Given the description of an element on the screen output the (x, y) to click on. 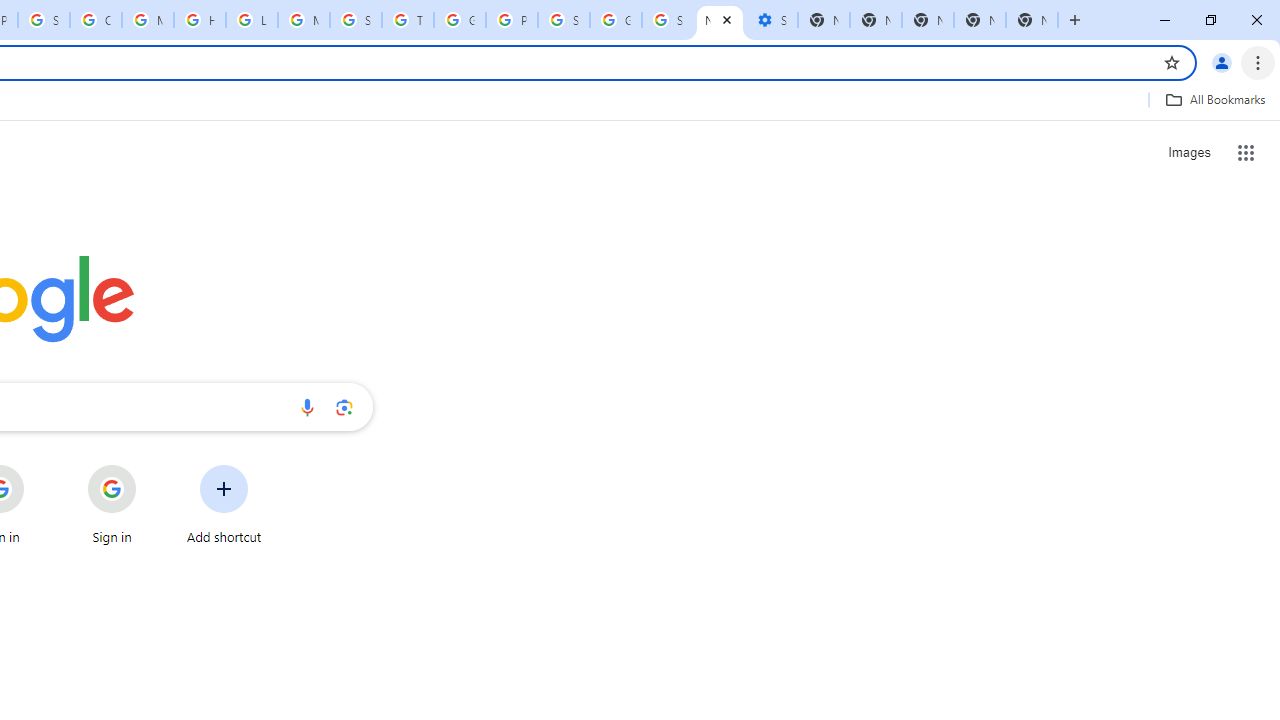
More actions for Sign in shortcut (152, 466)
Settings - Performance (771, 20)
Sign in - Google Accounts (563, 20)
Sign in - Google Accounts (667, 20)
New Tab (1032, 20)
